Given the description of an element on the screen output the (x, y) to click on. 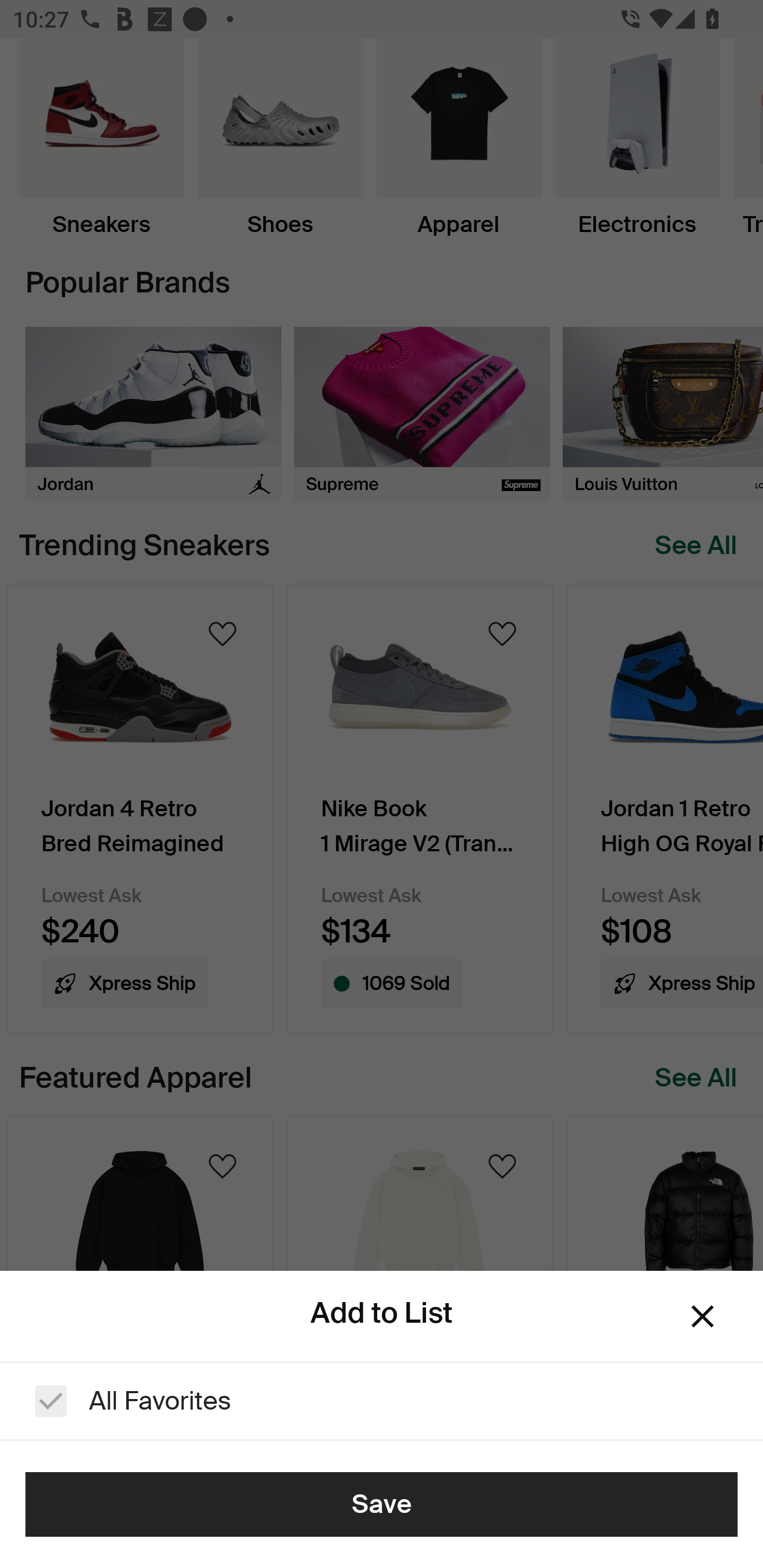
Dismiss (702, 1315)
All Favorites (381, 1400)
Save (381, 1504)
